Given the description of an element on the screen output the (x, y) to click on. 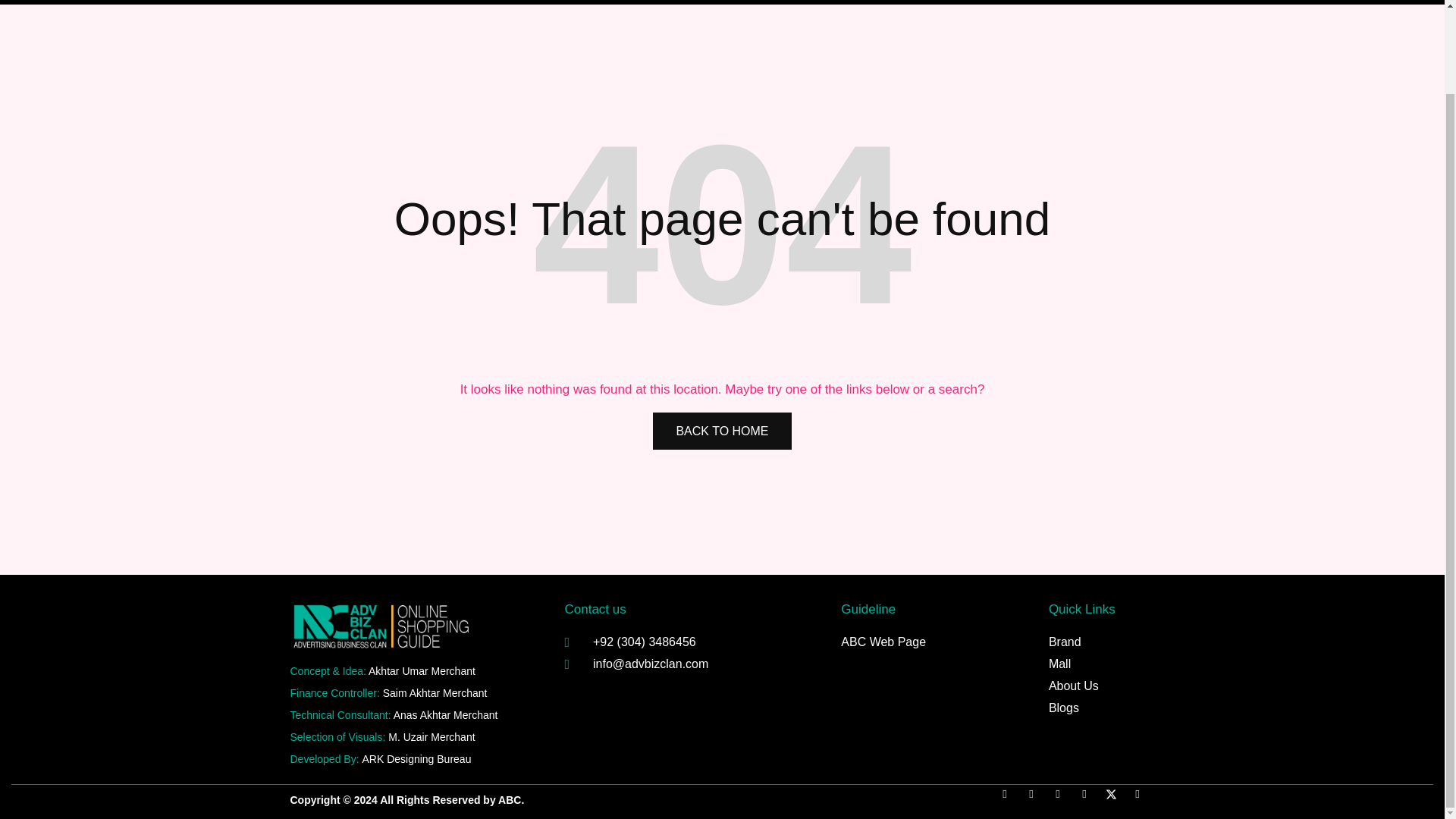
Linkedin-in (1142, 799)
Facebook (1010, 799)
Quora (1063, 799)
Pinterest (1036, 799)
Instagram (1089, 799)
Mall (1094, 664)
ABC Web Page (929, 642)
Blogs (1094, 708)
About Us (1094, 686)
BACK TO HOME (721, 430)
Brand (1094, 642)
ARK Designing Bureau (415, 758)
